Given the description of an element on the screen output the (x, y) to click on. 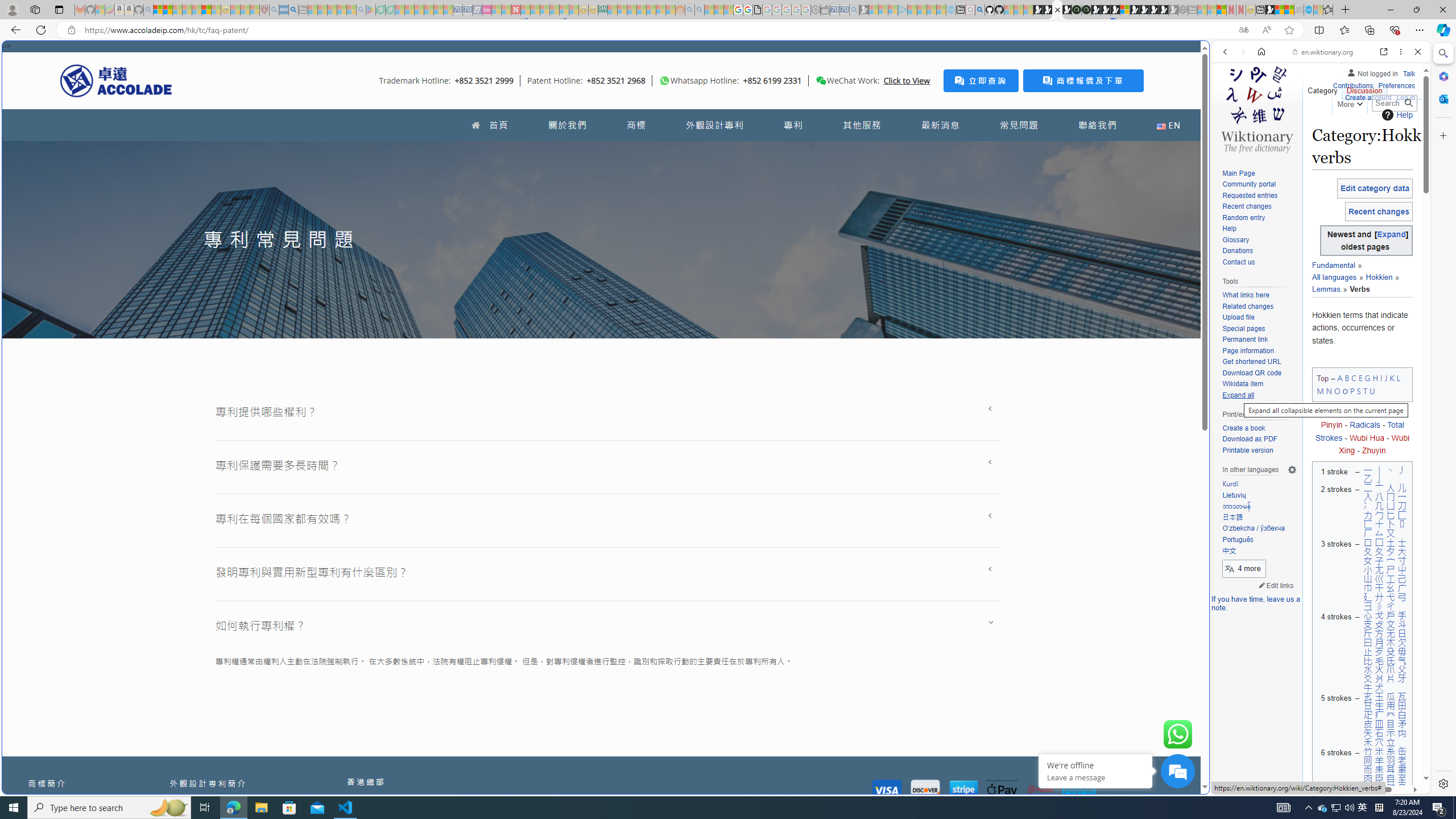
Create account (1367, 98)
Wubi Xing (1374, 443)
Related changes (1259, 306)
Contact us (1238, 261)
Hokkien (1374, 276)
Talk (1408, 71)
